Given the description of an element on the screen output the (x, y) to click on. 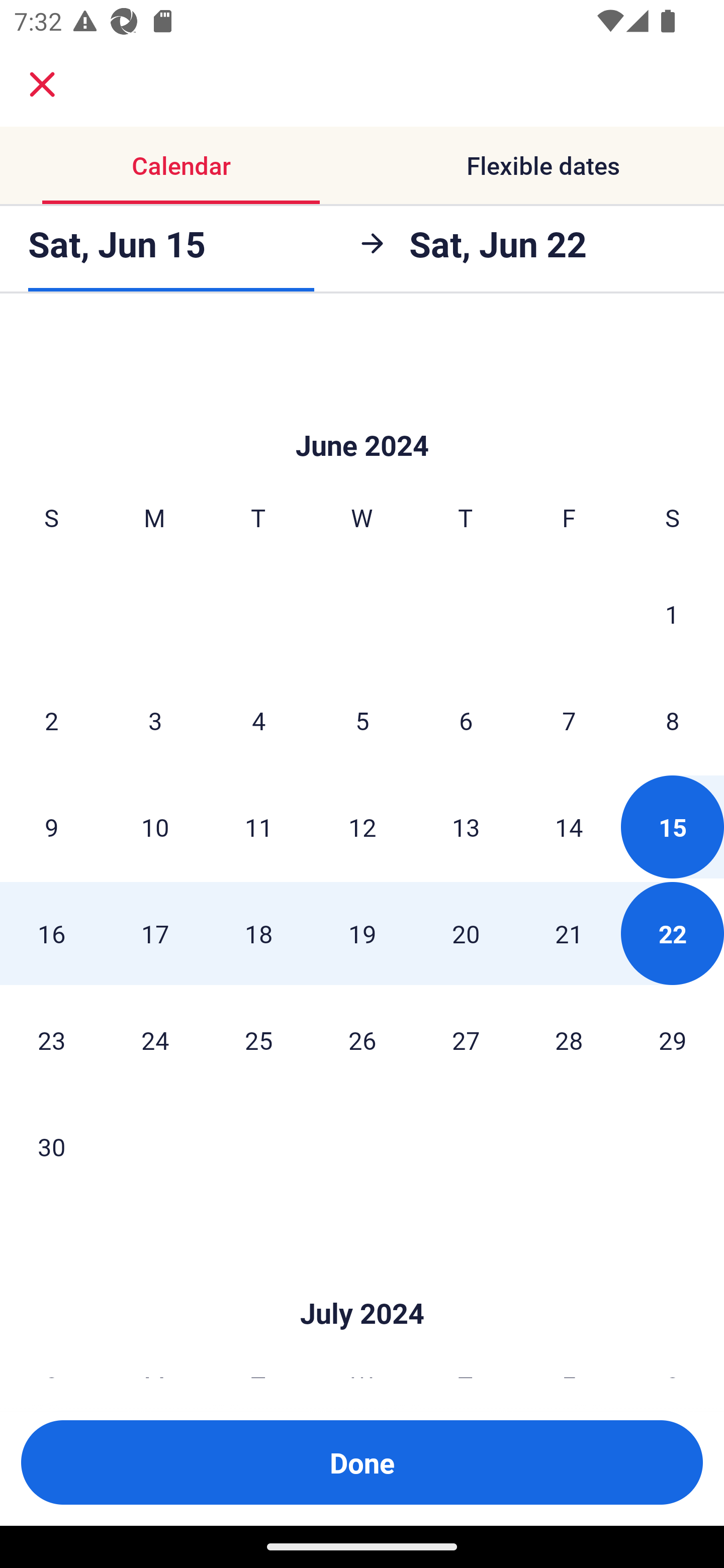
close. (42, 84)
Flexible dates (542, 164)
Skip to Done (362, 415)
1 Saturday, June 1, 2024 (672, 613)
2 Sunday, June 2, 2024 (51, 720)
3 Monday, June 3, 2024 (155, 720)
4 Tuesday, June 4, 2024 (258, 720)
5 Wednesday, June 5, 2024 (362, 720)
6 Thursday, June 6, 2024 (465, 720)
7 Friday, June 7, 2024 (569, 720)
8 Saturday, June 8, 2024 (672, 720)
9 Sunday, June 9, 2024 (51, 827)
10 Monday, June 10, 2024 (155, 827)
11 Tuesday, June 11, 2024 (258, 827)
12 Wednesday, June 12, 2024 (362, 827)
13 Thursday, June 13, 2024 (465, 827)
14 Friday, June 14, 2024 (569, 827)
23 Sunday, June 23, 2024 (51, 1039)
24 Monday, June 24, 2024 (155, 1039)
25 Tuesday, June 25, 2024 (258, 1039)
26 Wednesday, June 26, 2024 (362, 1039)
27 Thursday, June 27, 2024 (465, 1039)
28 Friday, June 28, 2024 (569, 1039)
29 Saturday, June 29, 2024 (672, 1039)
30 Sunday, June 30, 2024 (51, 1145)
Skip to Done (362, 1283)
Done (361, 1462)
